Given the description of an element on the screen output the (x, y) to click on. 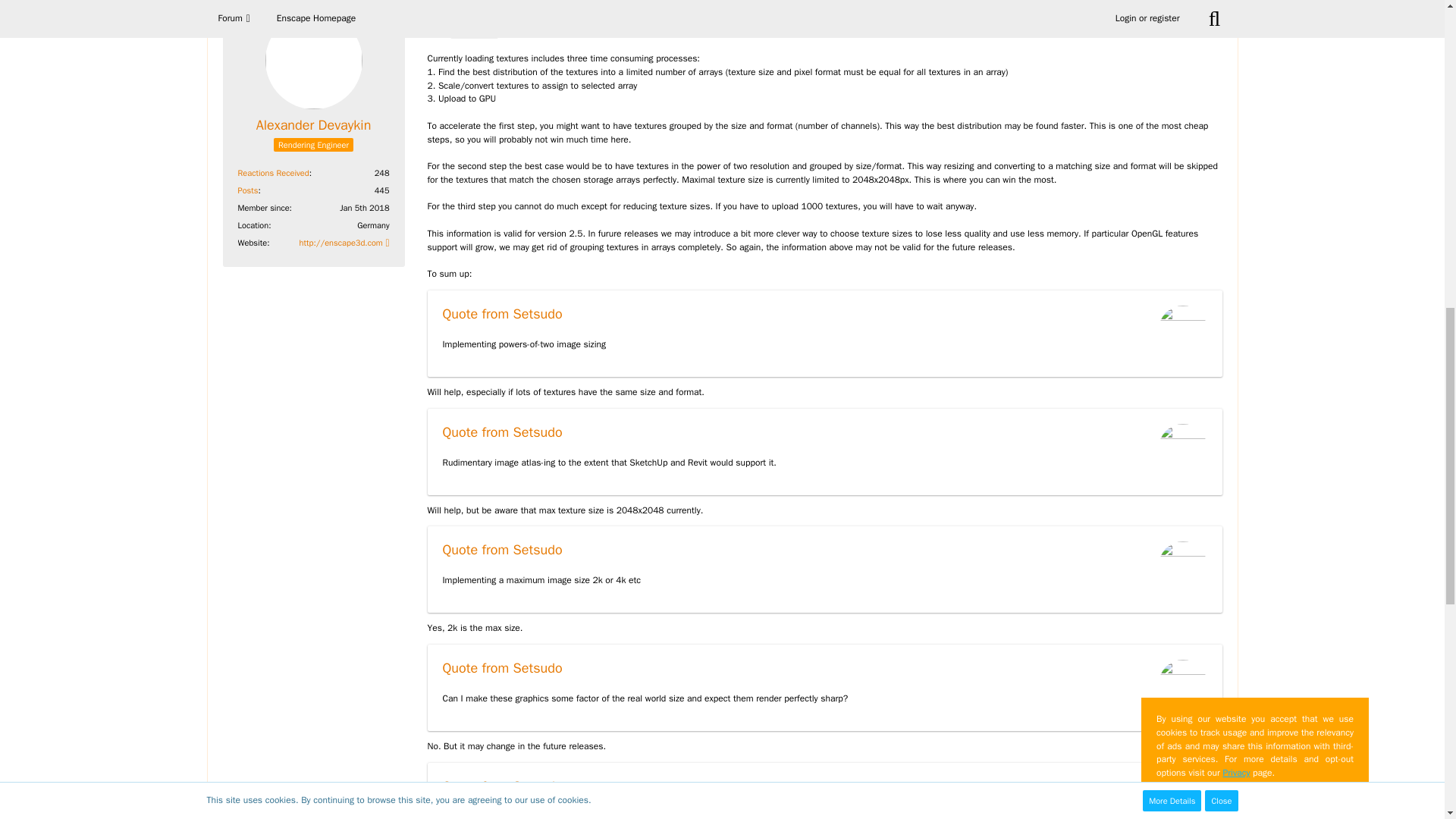
Quote from Setsudo (502, 313)
Sep 4th 2019 (453, 4)
Reactions Received (273, 172)
Setsudo (473, 31)
Alexander Devaykin (313, 125)
Posts (248, 190)
